Given the description of an element on the screen output the (x, y) to click on. 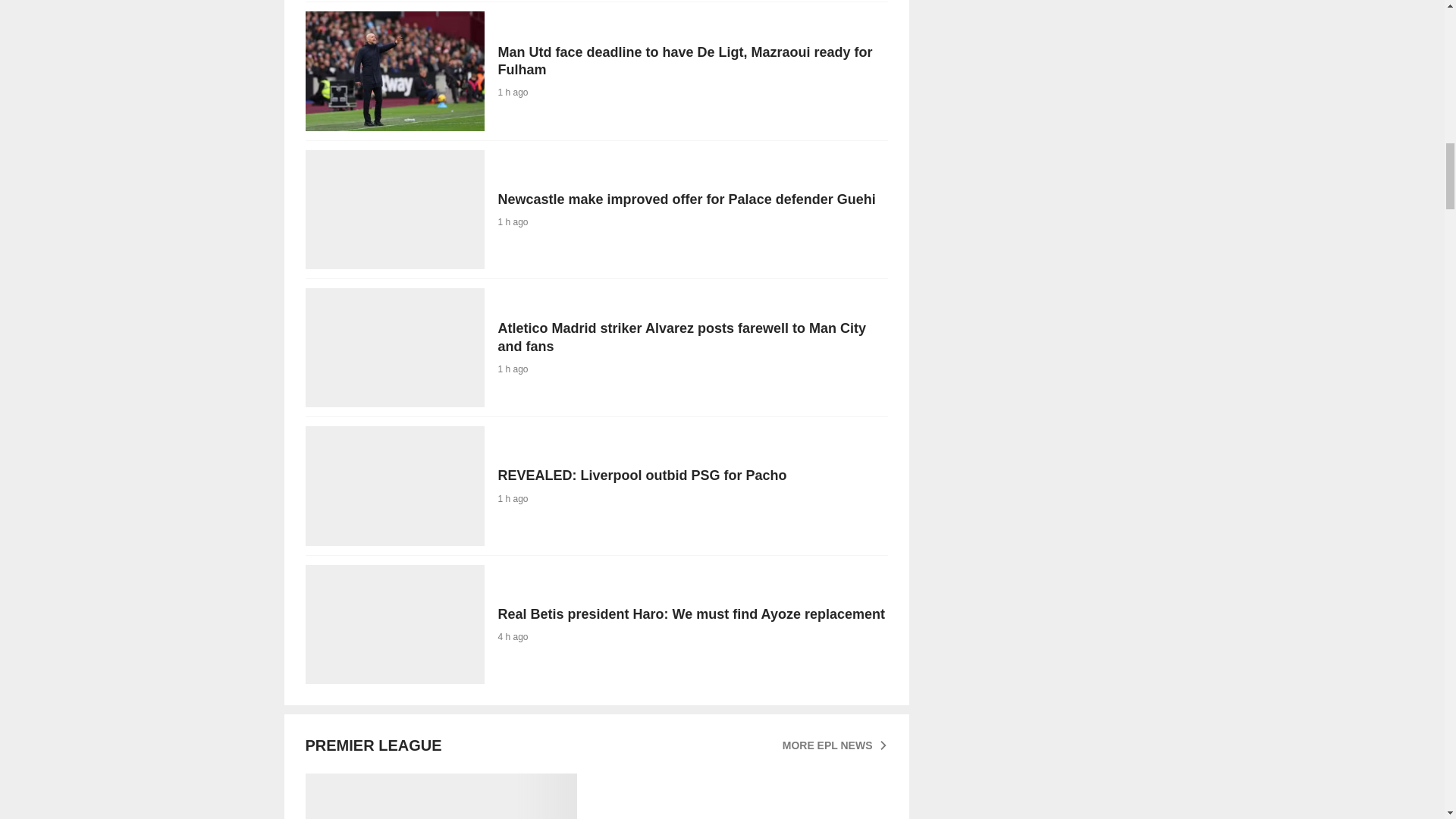
MORE EPL NEWS (595, 485)
